Given the description of an element on the screen output the (x, y) to click on. 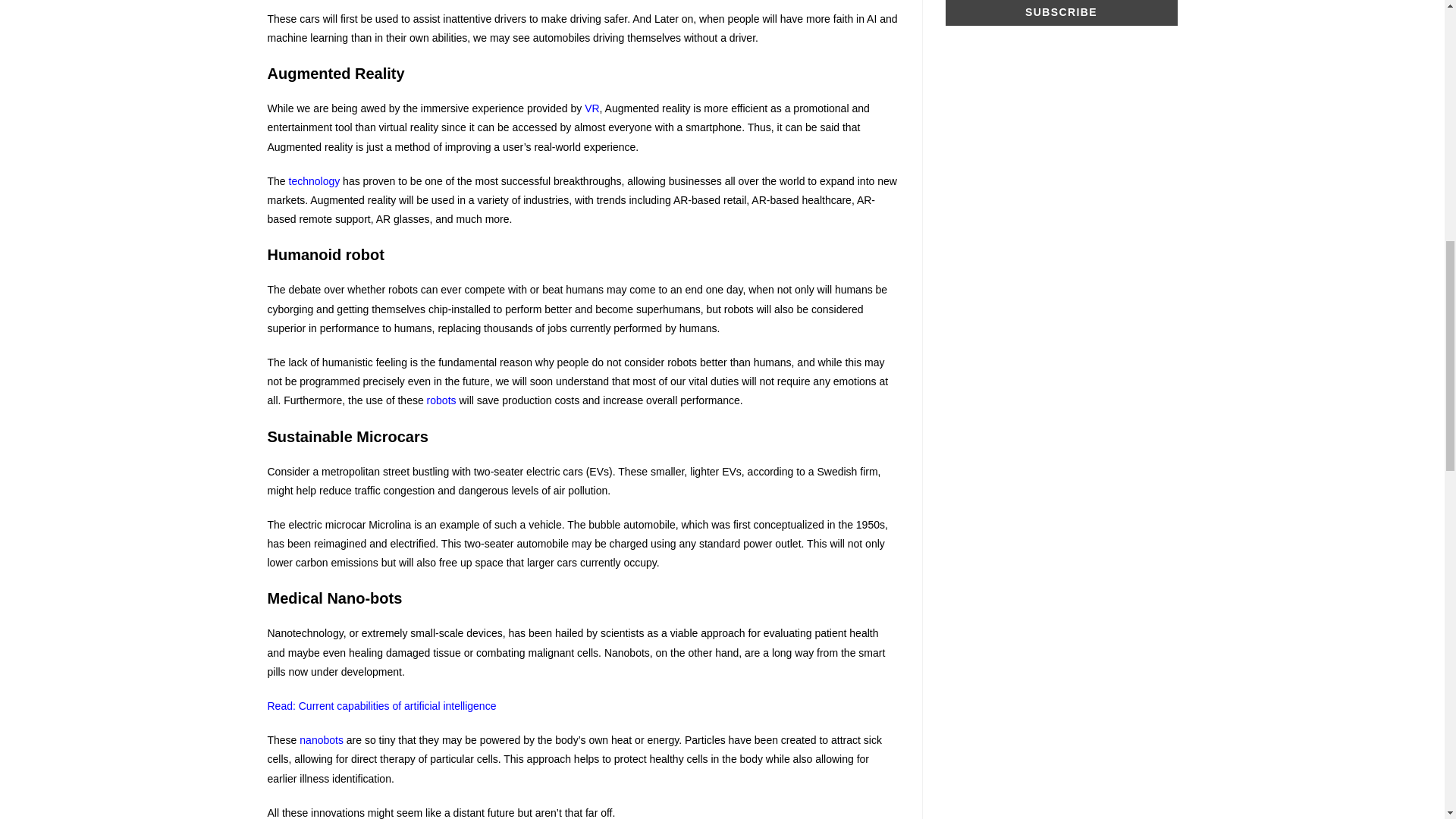
nanobots (321, 739)
robots (441, 399)
Subscribe (1060, 12)
technology (314, 181)
VR (591, 108)
